Given the description of an element on the screen output the (x, y) to click on. 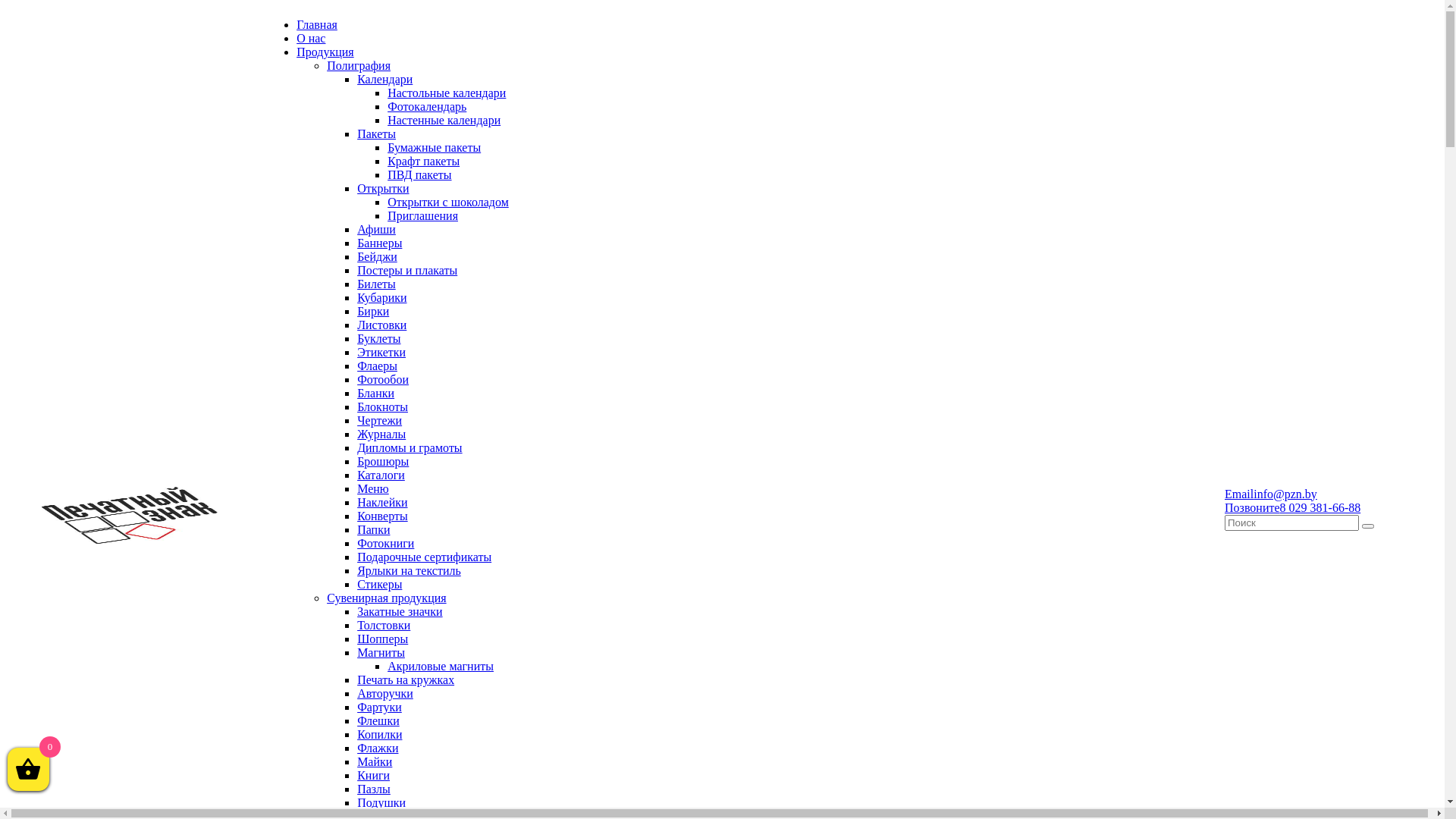
Emailinfo@pzn.by Element type: text (1270, 492)
